Given the description of an element on the screen output the (x, y) to click on. 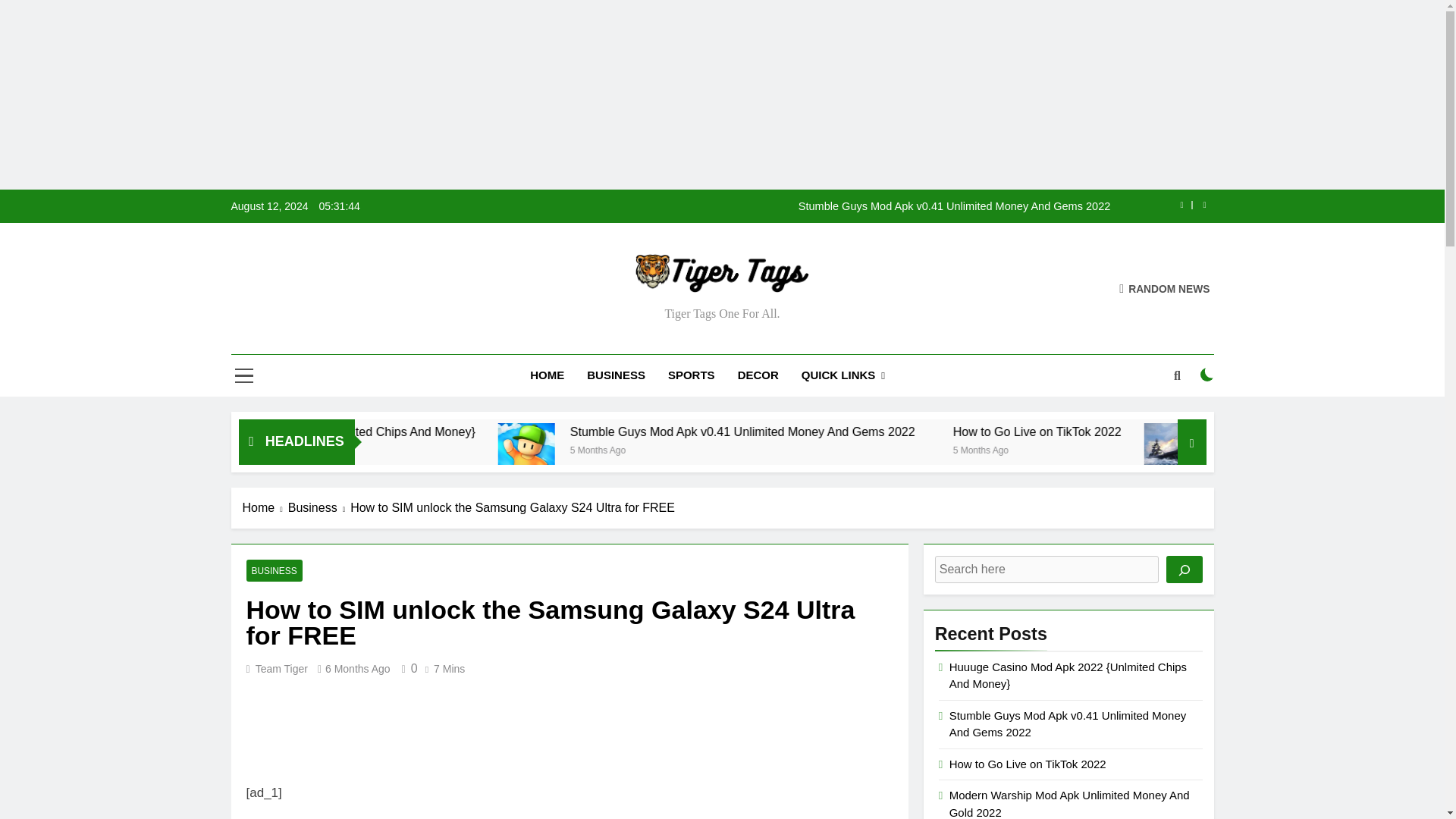
SPORTS (691, 374)
on (1206, 374)
5 Months Ago (356, 449)
Stumble Guys Mod Apk v0.41 Unlimited Money And Gems 2022 (913, 431)
Stumble Guys Mod Apk v0.41 Unlimited Money And Gems 2022 (664, 451)
Stumble Guys Mod Apk v0.41 Unlimited Money And Gems 2022 (661, 451)
Stumble Guys Mod Apk v0.41 Unlimited Money And Gems 2022 (817, 205)
DECOR (758, 374)
BUSINESS (615, 374)
RANDOM NEWS (1164, 287)
